Given the description of an element on the screen output the (x, y) to click on. 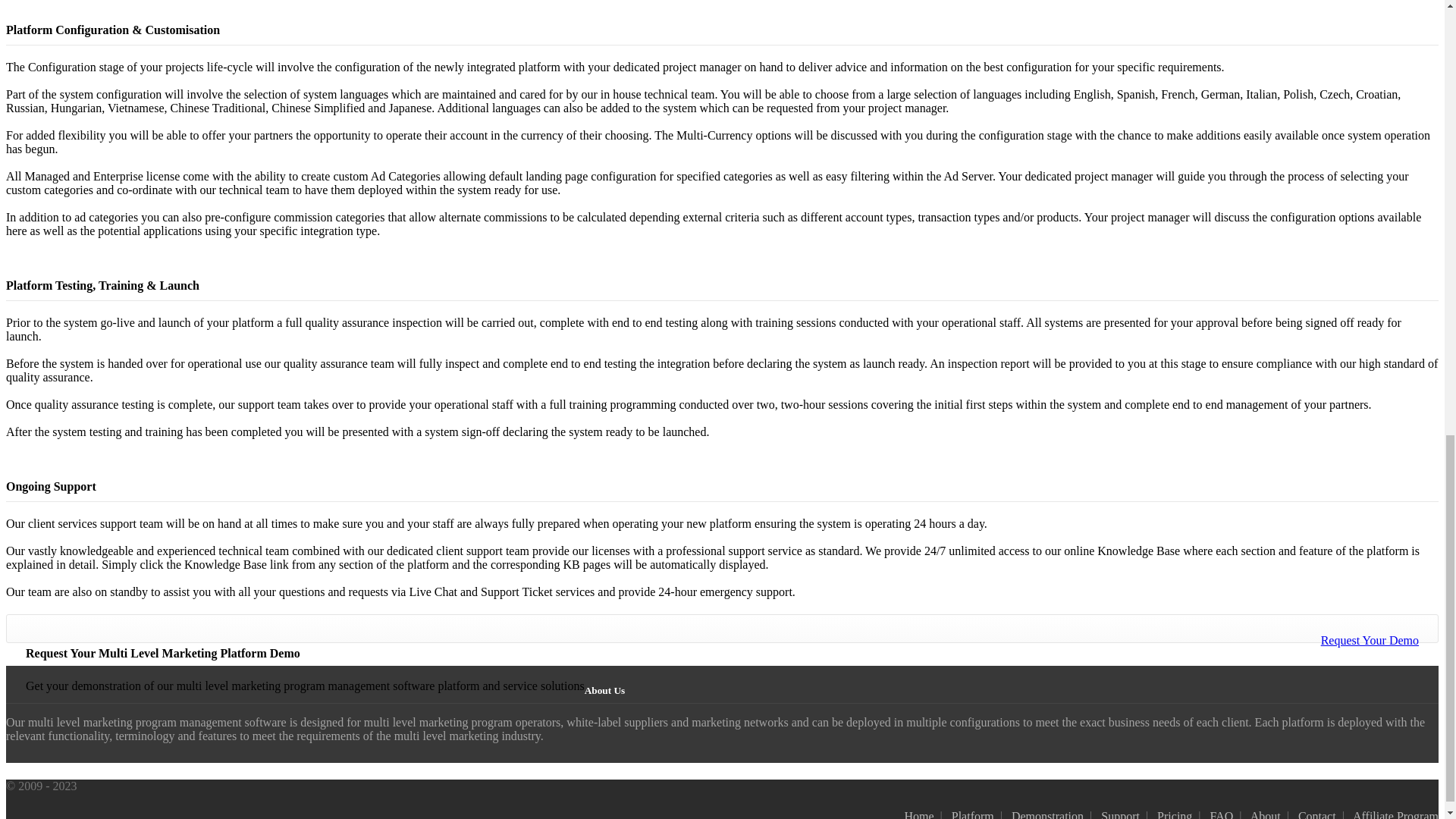
Request Your Demo (1369, 640)
